Given the description of an element on the screen output the (x, y) to click on. 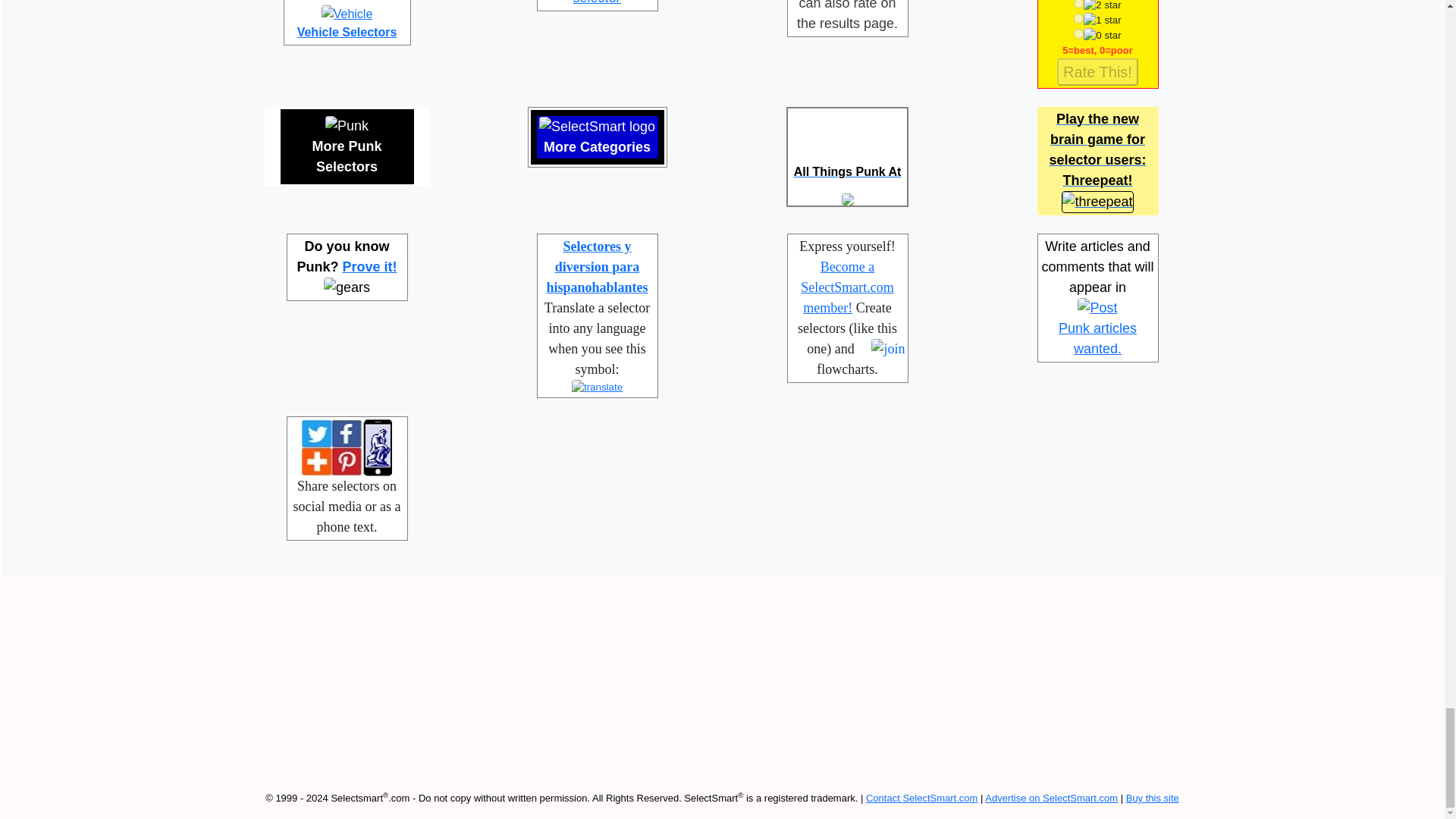
More Punk Selectors (347, 146)
Rate This! (1097, 71)
Punk Poll: Old shcool punk band selector (597, 2)
Vehicle Selectors (347, 22)
